Given the description of an element on the screen output the (x, y) to click on. 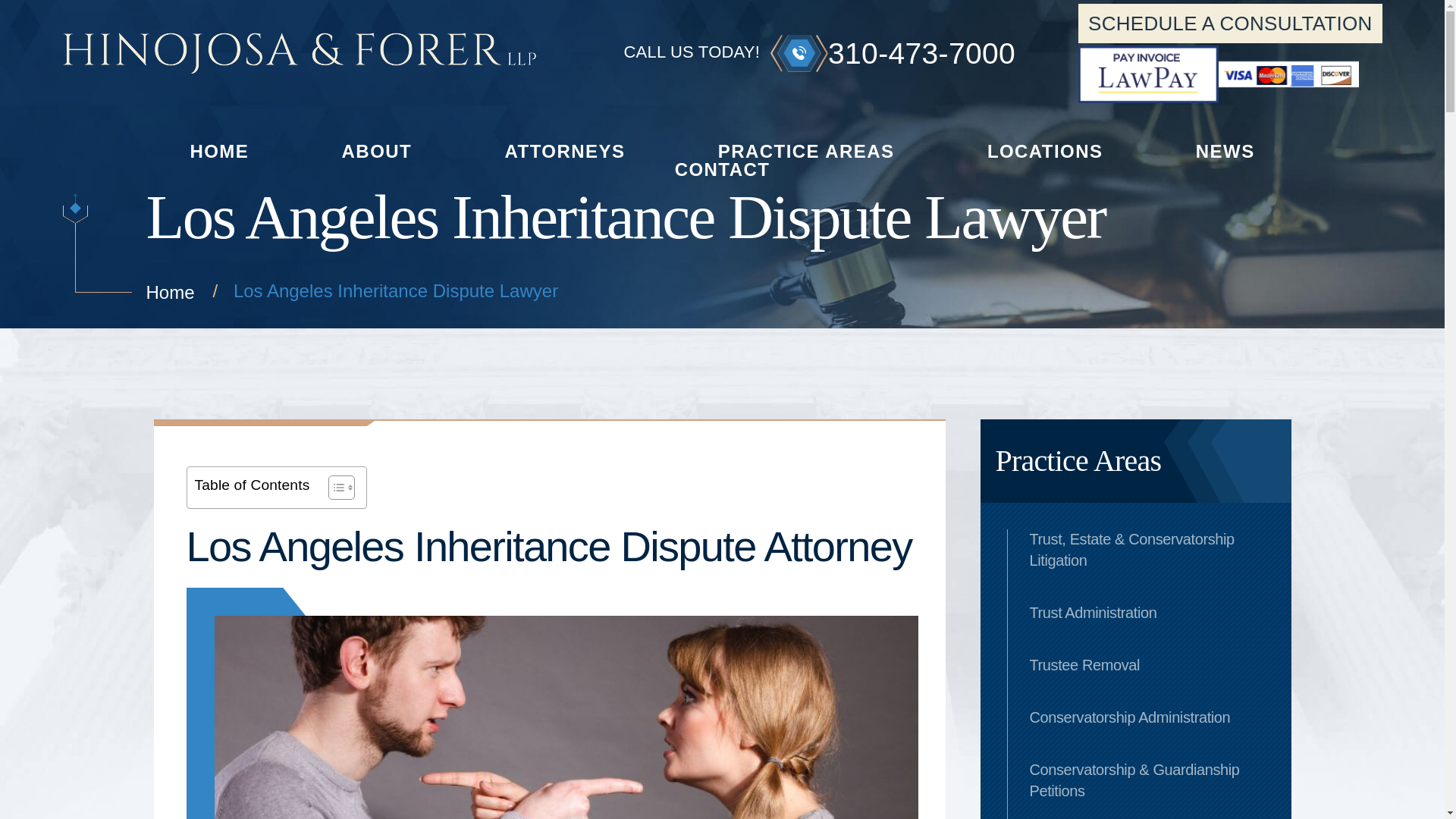
PRACTICE AREAS (806, 150)
SCHEDULE A CONSULTATION (1229, 23)
LOCATIONS (1045, 150)
310-473-7000 (887, 52)
ATTORNEYS (565, 150)
ABOUT (377, 150)
HOME (218, 150)
